Given the description of an element on the screen output the (x, y) to click on. 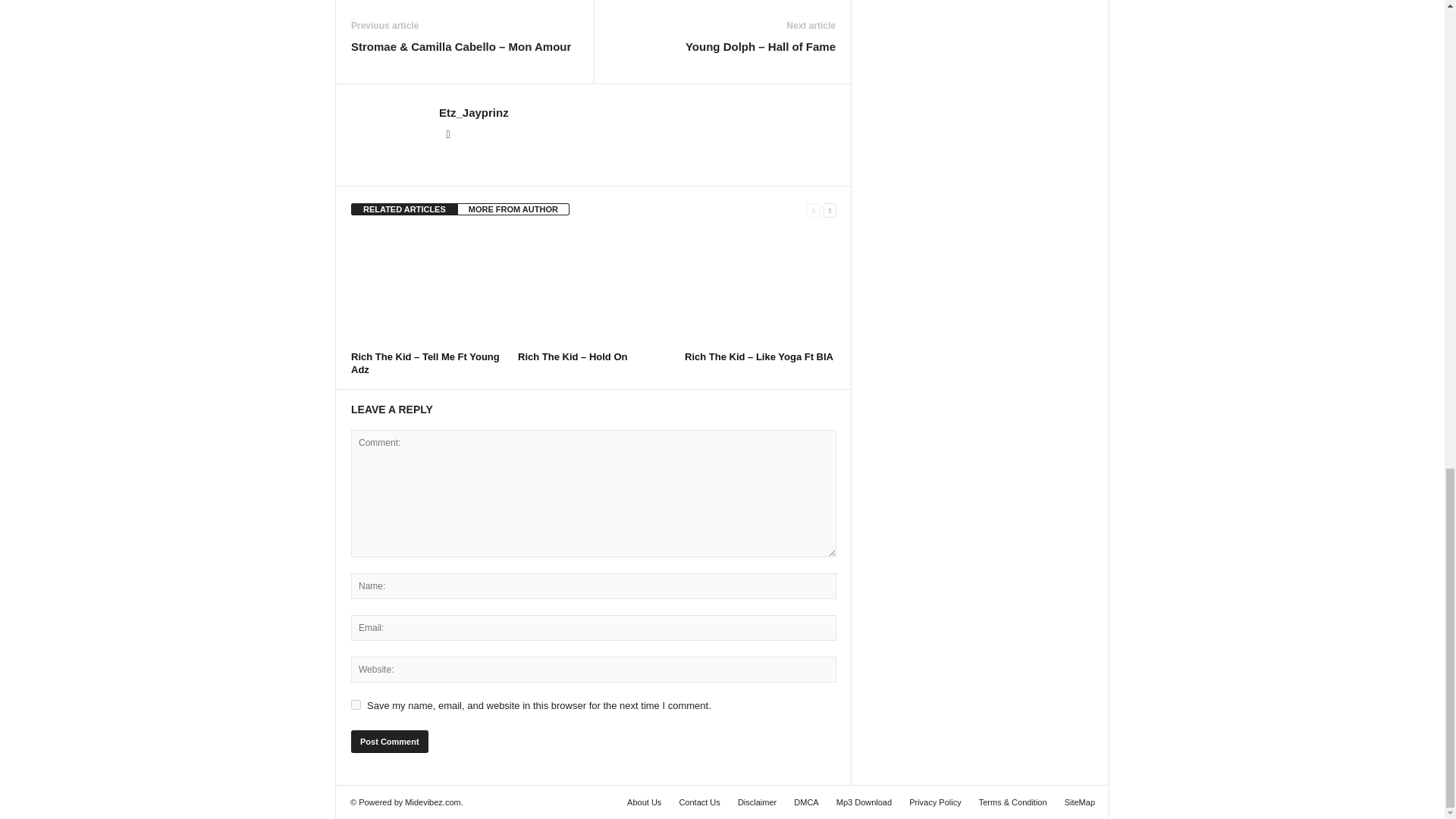
yes (355, 705)
Post Comment (389, 741)
